Given the description of an element on the screen output the (x, y) to click on. 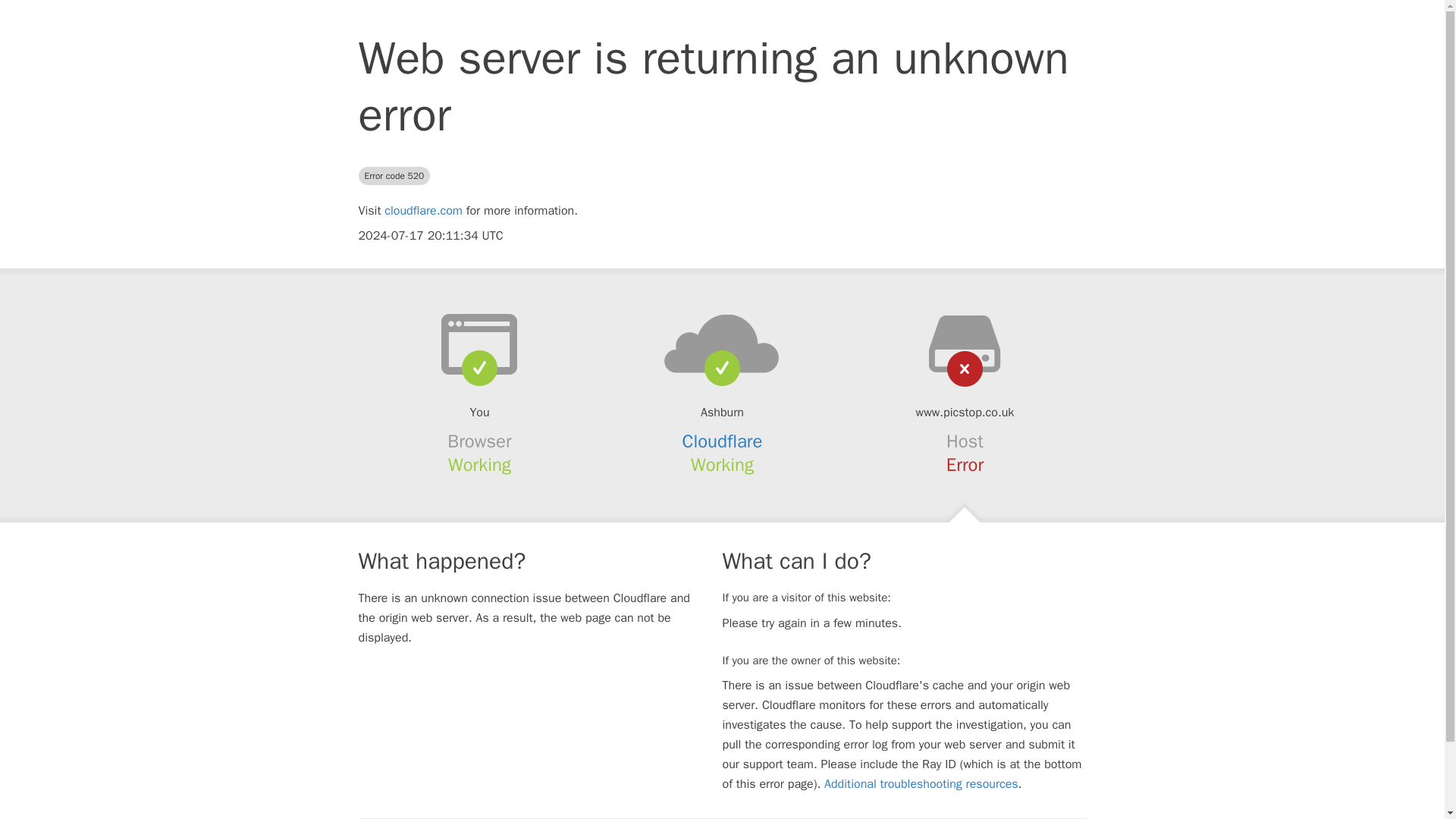
Cloudflare (722, 440)
cloudflare.com (423, 210)
Additional troubleshooting resources (920, 783)
